Given the description of an element on the screen output the (x, y) to click on. 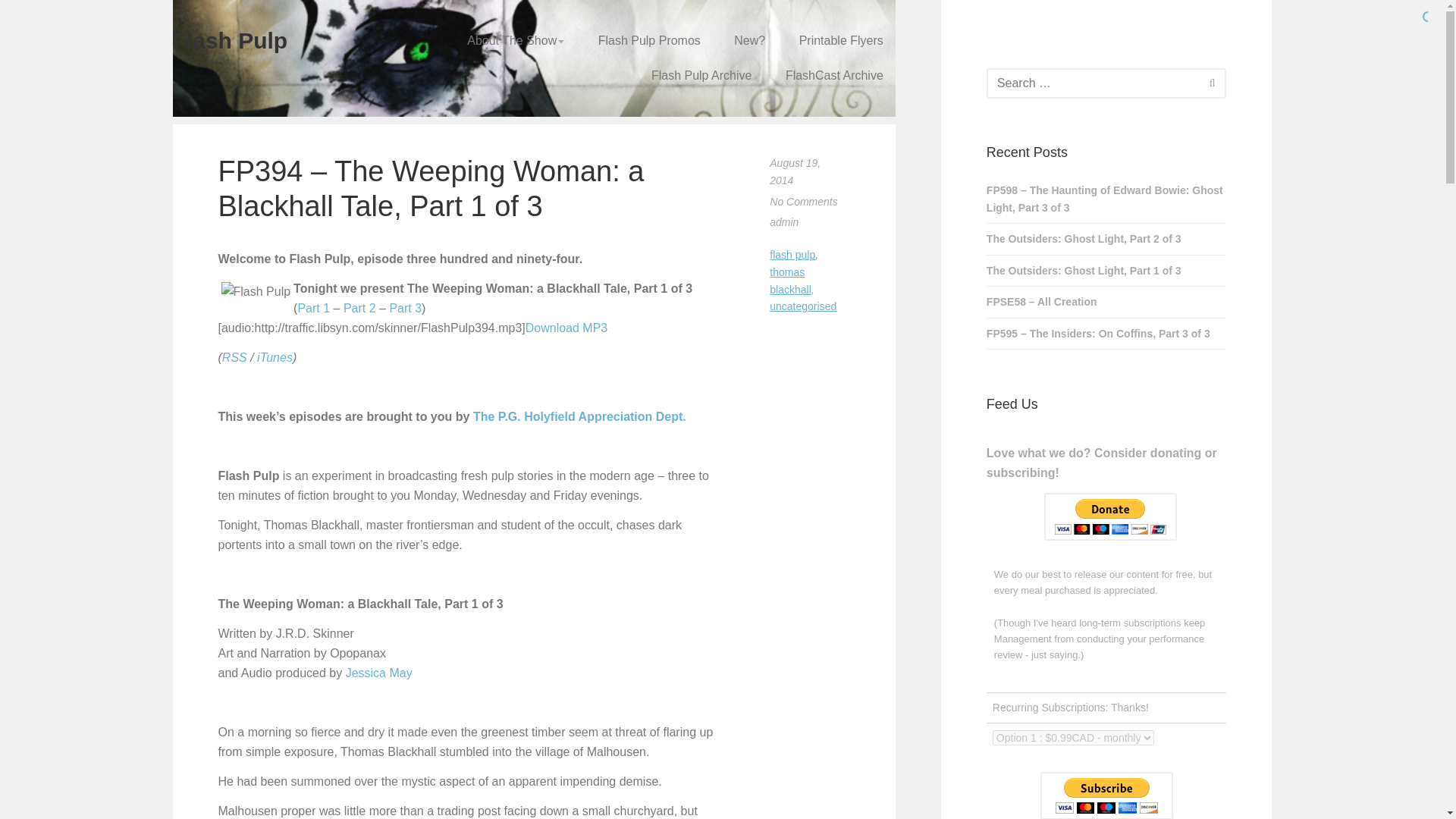
uncategorised (802, 306)
iTunes (274, 357)
Flash Pulp (256, 291)
The P.G. Holyfield Appreciation Dept. (579, 416)
Flash Pulp Archive (701, 75)
Search (1211, 81)
Jessica May (379, 672)
RSS (234, 357)
Flash Pulp (230, 40)
Printable Flyers (841, 40)
FlashCast Archive (834, 75)
Part 3 (405, 308)
New? (749, 40)
thomas blackhall (790, 280)
August 19, 2014 (795, 171)
